Given the description of an element on the screen output the (x, y) to click on. 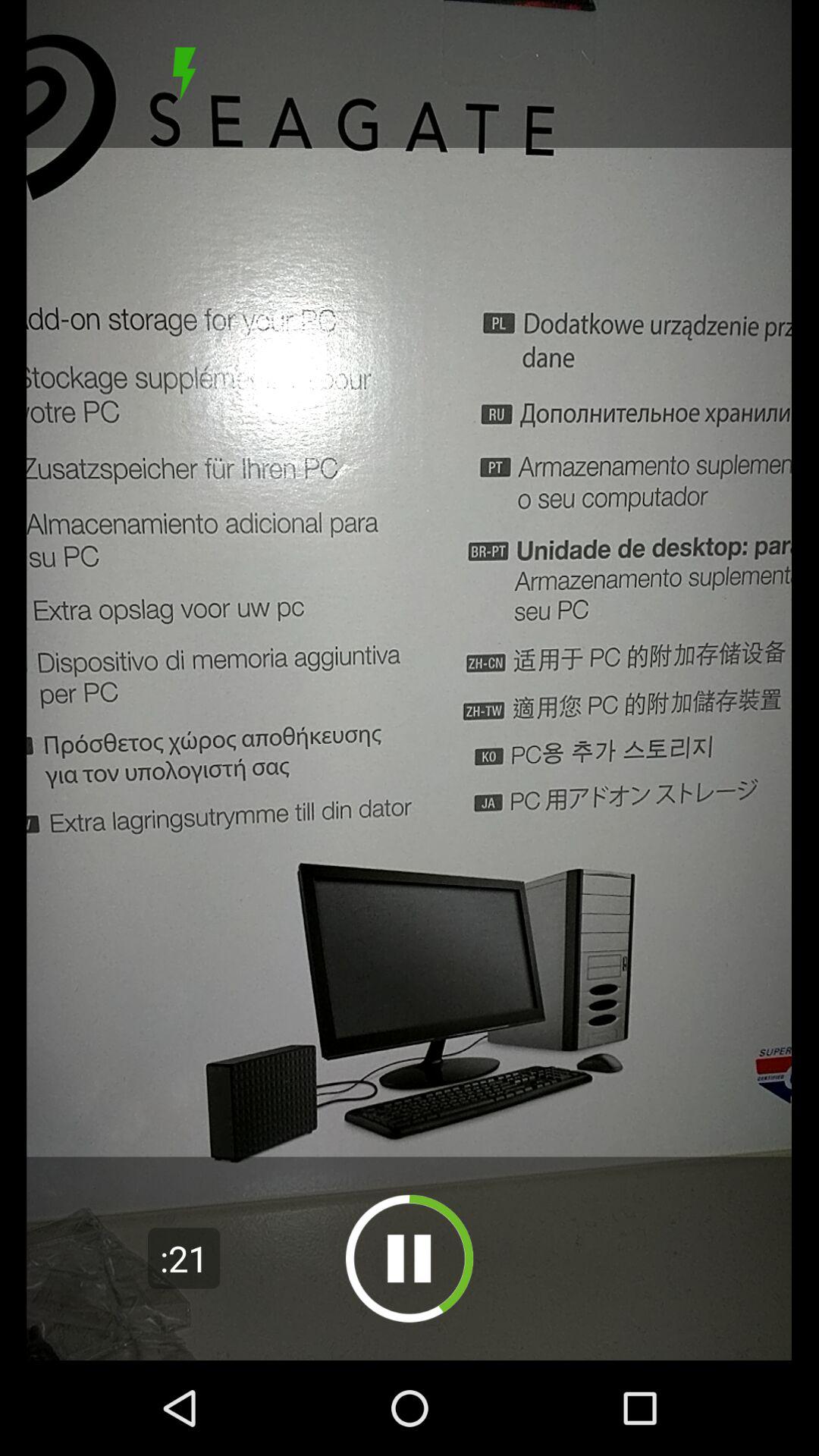
stop the play button (184, 73)
